Given the description of an element on the screen output the (x, y) to click on. 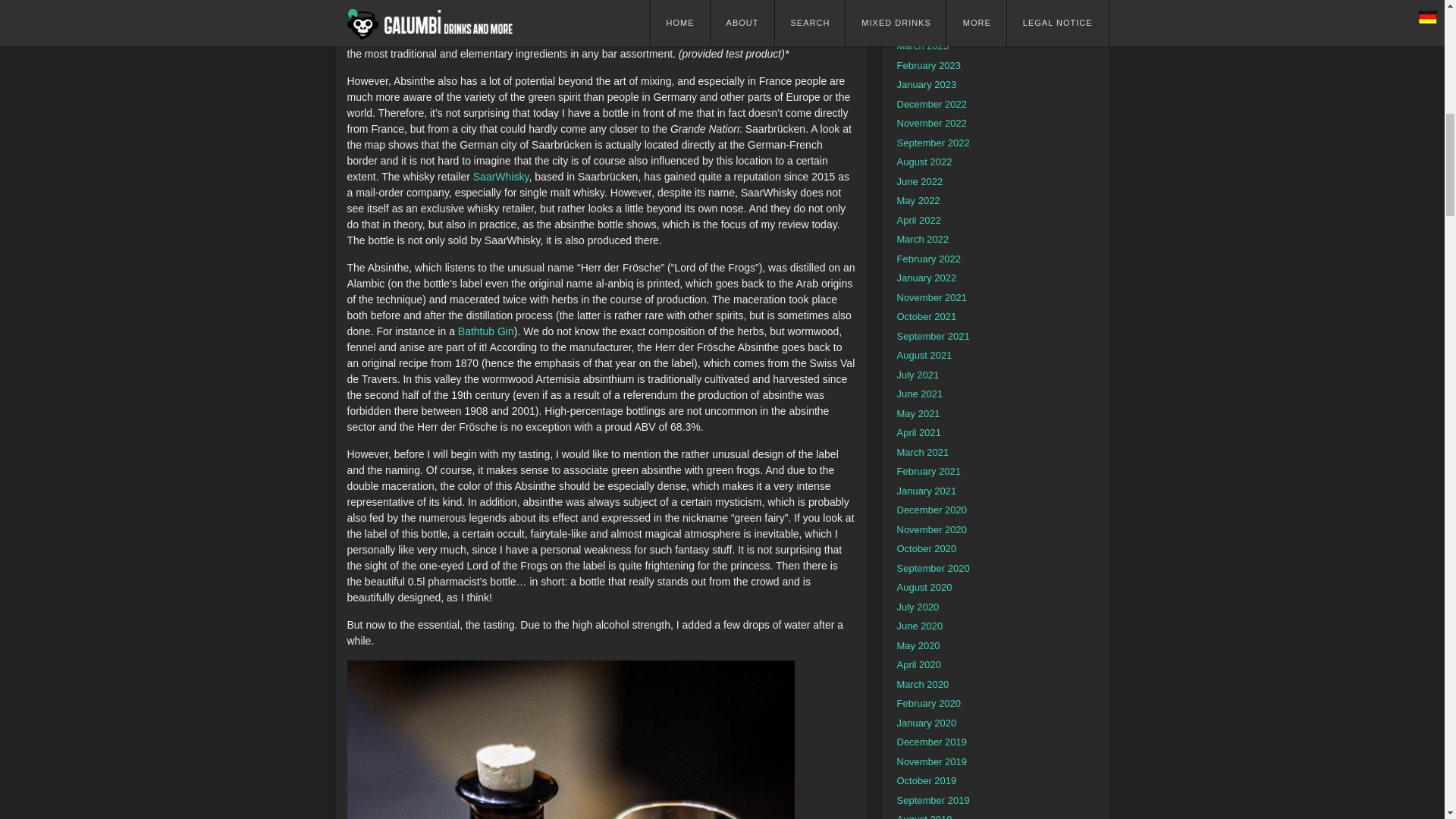
SaarWhisky (501, 175)
Bathtub Gin (485, 330)
wrote about Absinthe (589, 6)
